Given the description of an element on the screen output the (x, y) to click on. 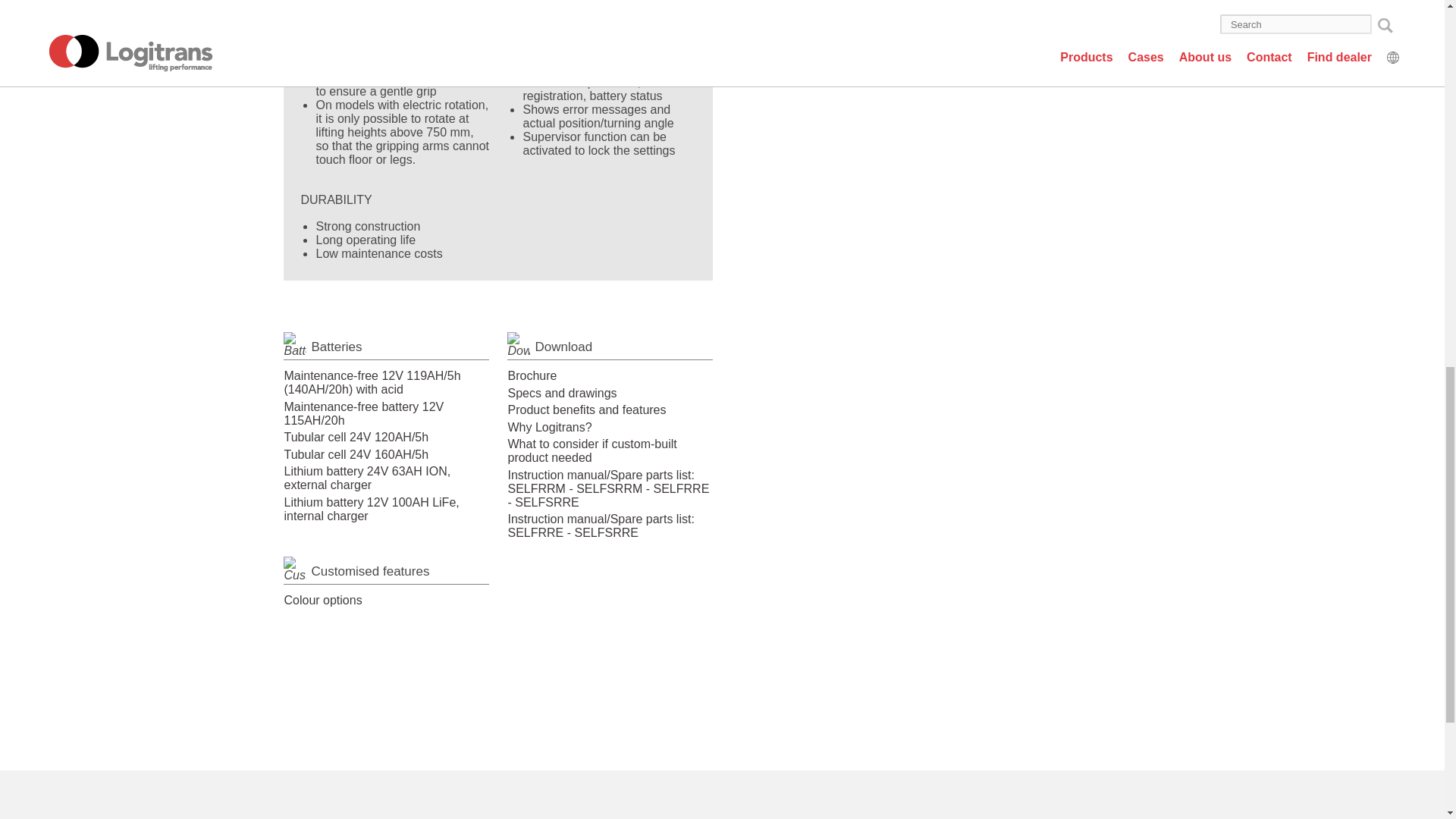
Lithium battery 24V 63AH ION, external charger (366, 478)
